Given the description of an element on the screen output the (x, y) to click on. 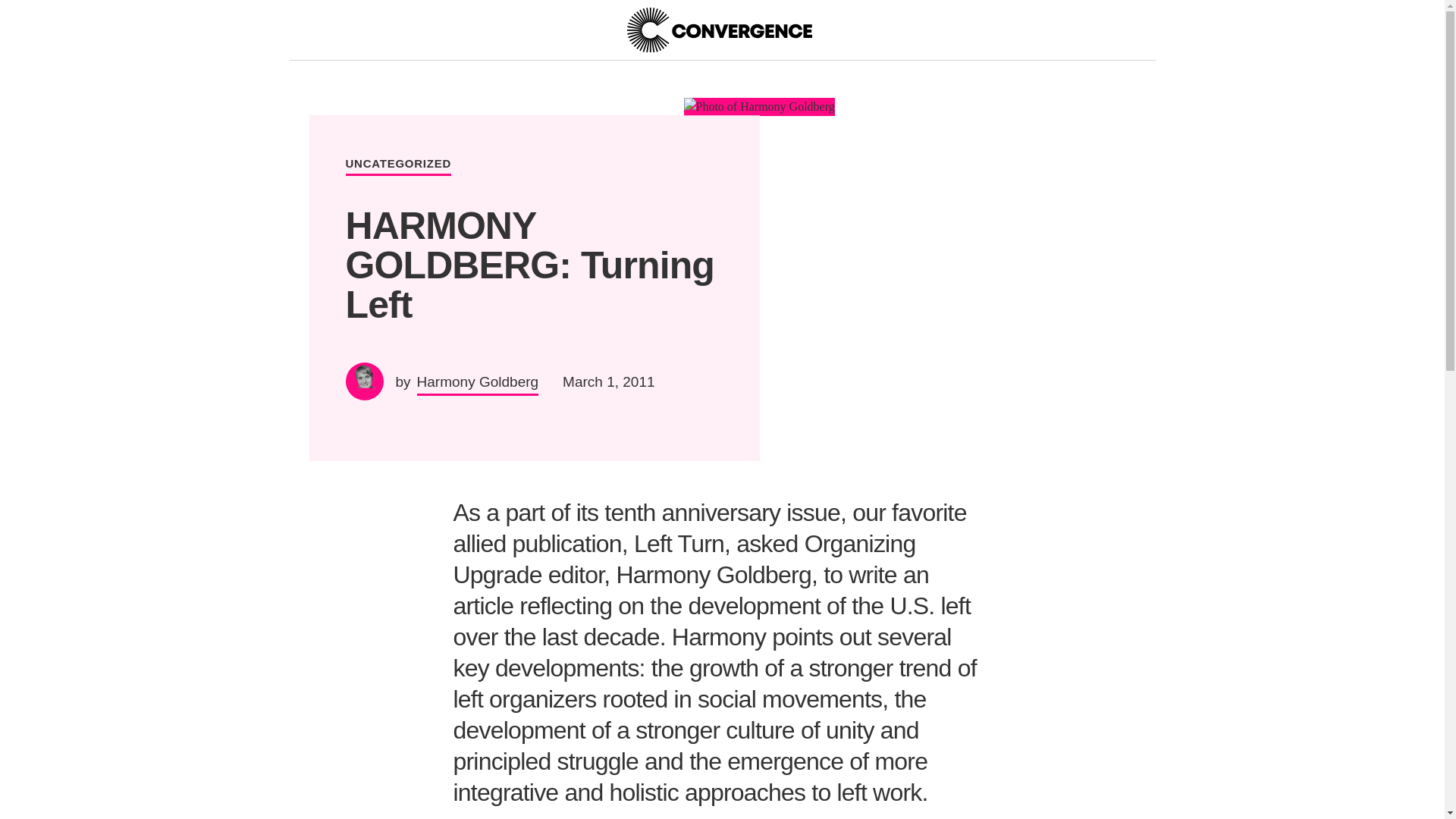
Convergence "C" logo with text (718, 30)
UNCATEGORIZED (398, 167)
Harmony Goldberg (718, 30)
